Given the description of an element on the screen output the (x, y) to click on. 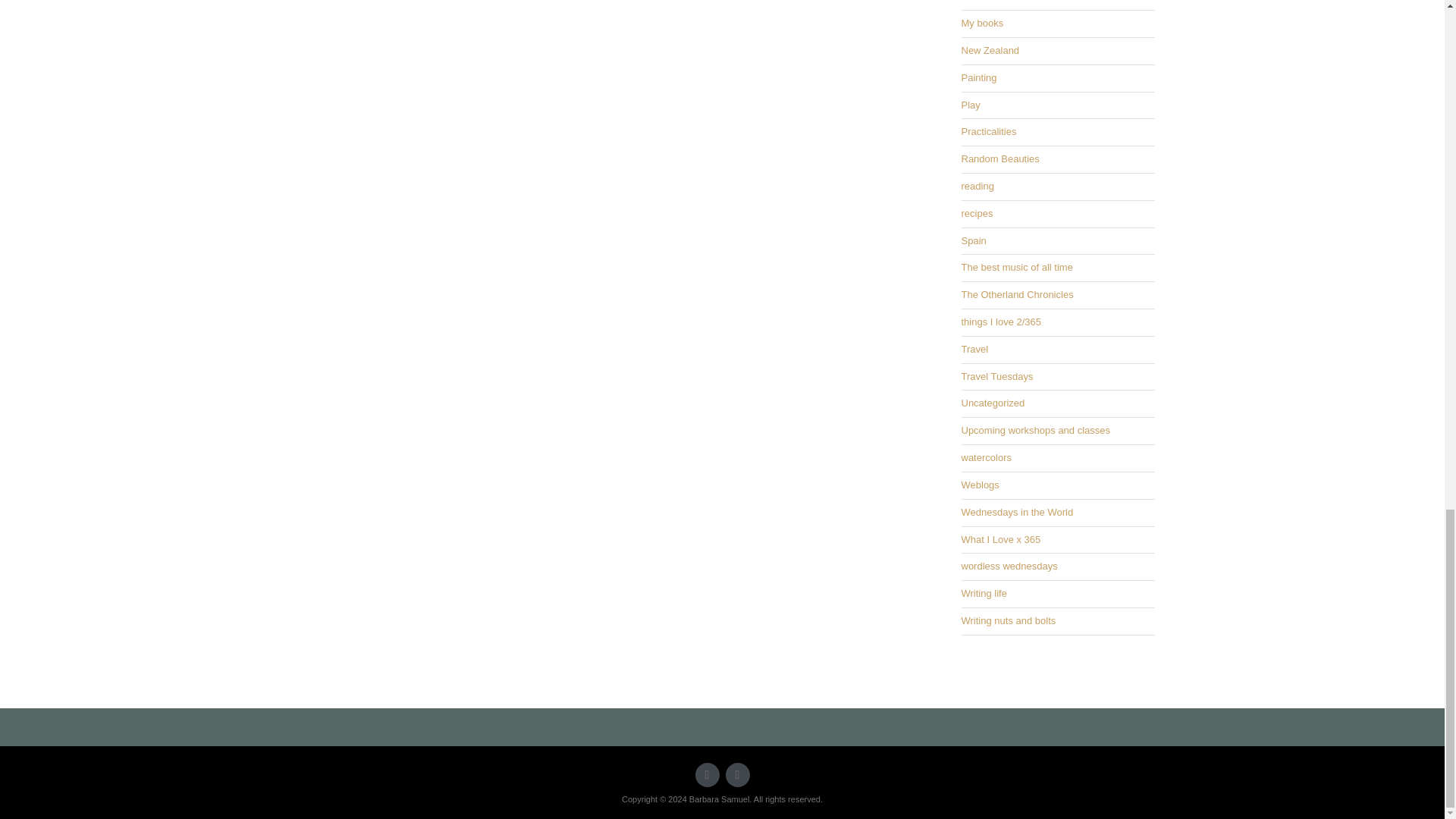
Facebook (737, 774)
Twitter (706, 774)
